Given the description of an element on the screen output the (x, y) to click on. 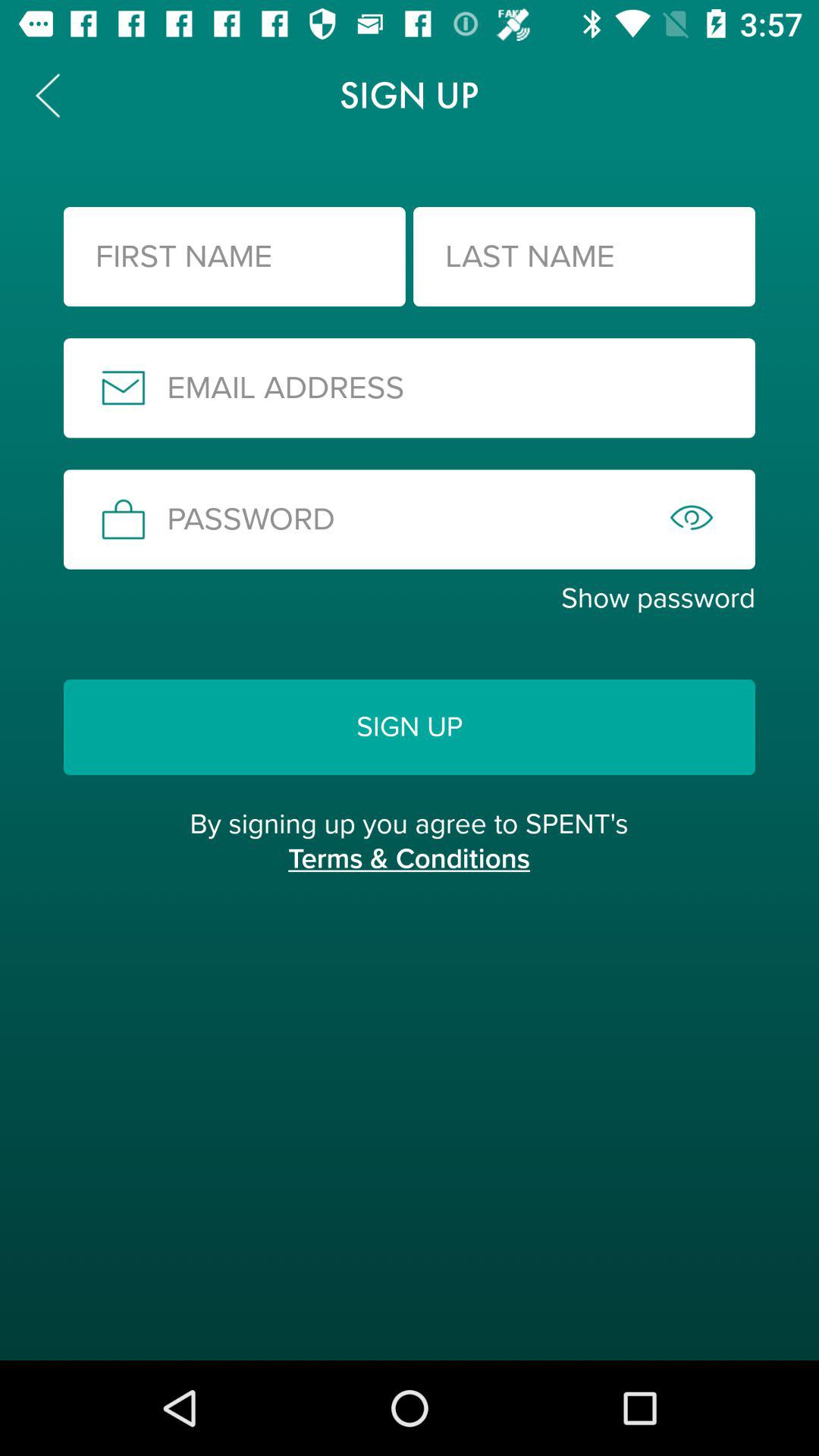
flip to the show password (409, 598)
